Given the description of an element on the screen output the (x, y) to click on. 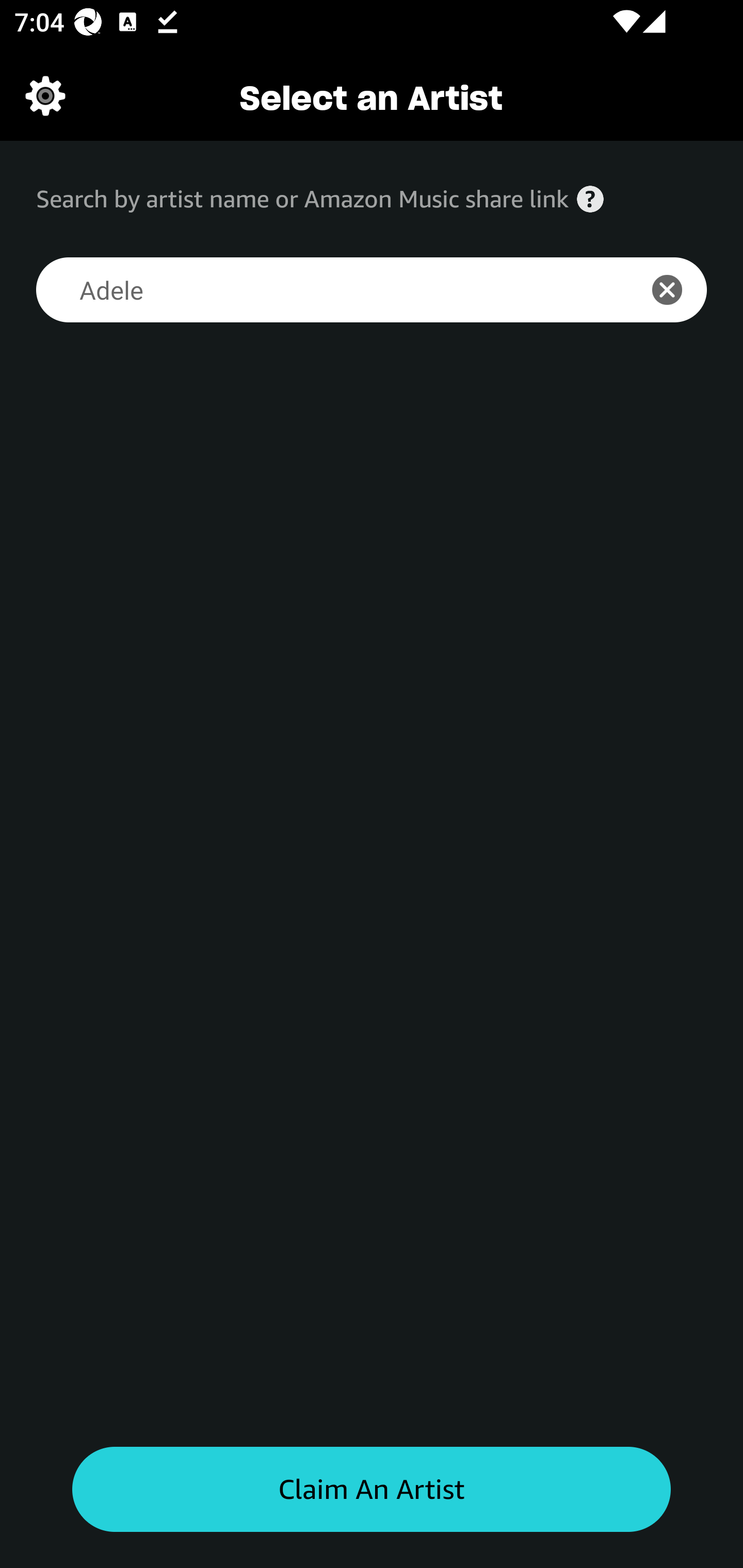
Help  icon (589, 199)
Adele Search for an artist search bar (324, 290)
 icon (677, 290)
Claim an artist button Claim An Artist (371, 1489)
